Given the description of an element on the screen output the (x, y) to click on. 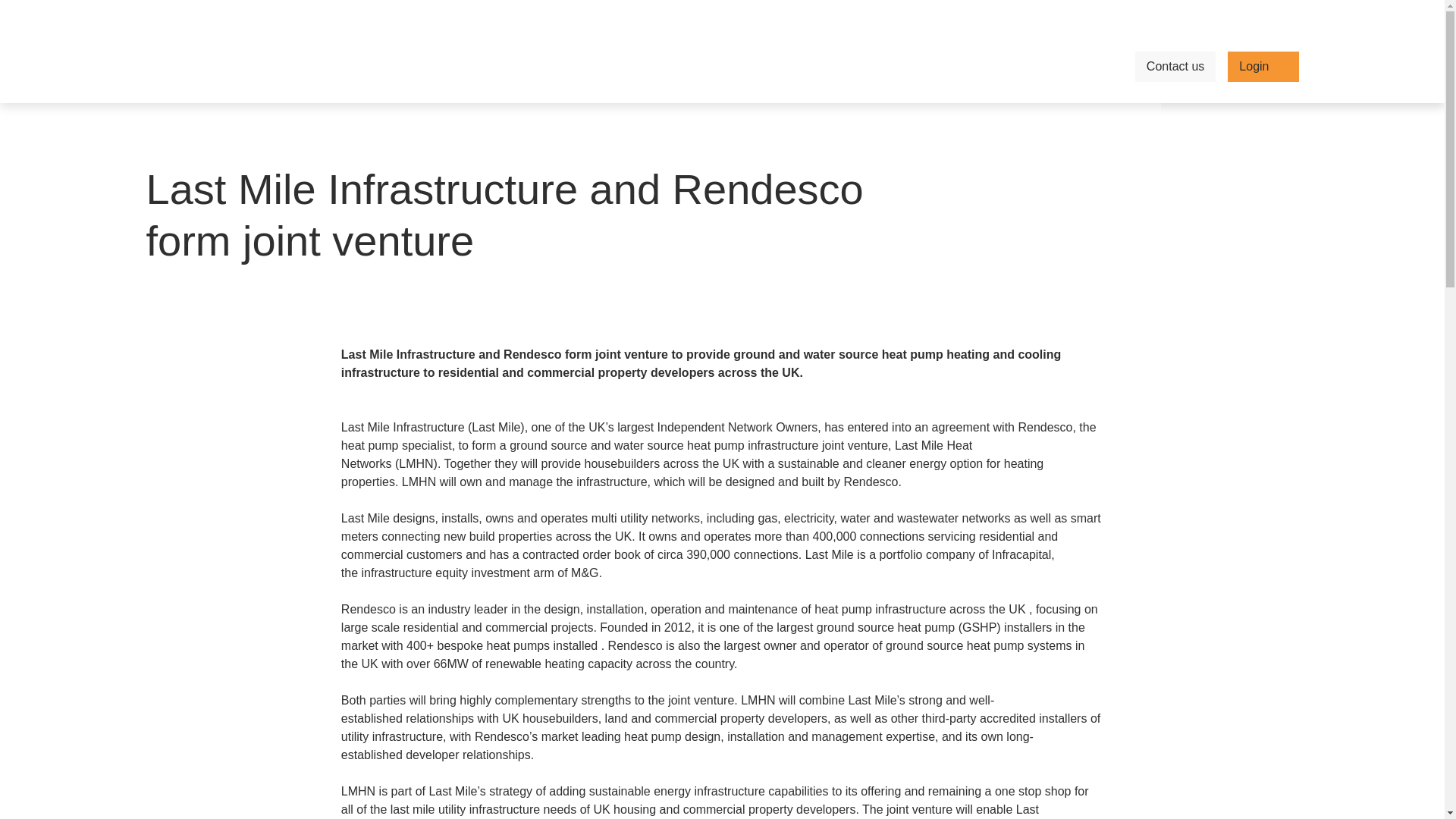
Login (1262, 66)
Contact us (1175, 66)
Infracapital (1198, 15)
